Given the description of an element on the screen output the (x, y) to click on. 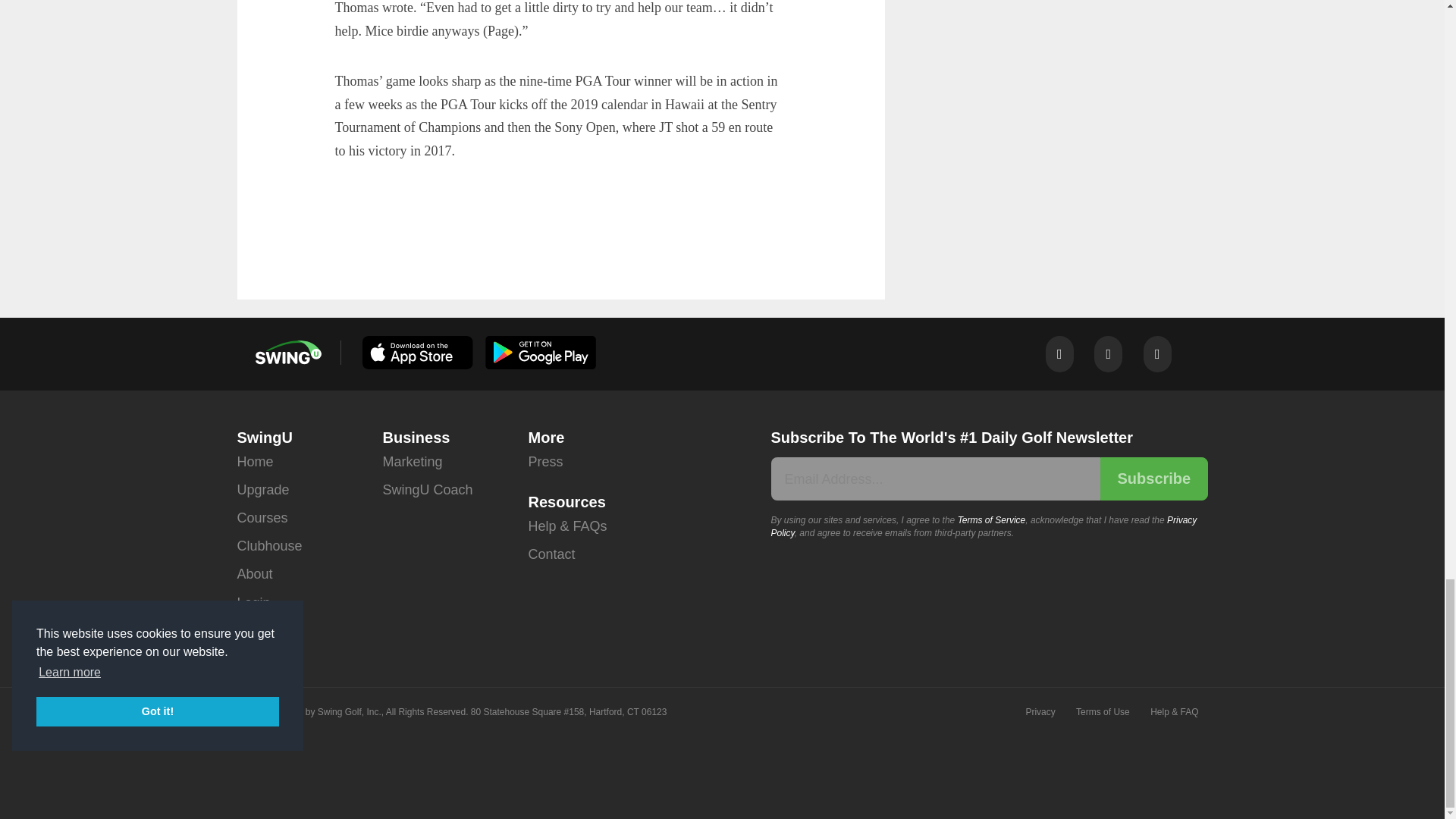
SwingU Coach (426, 489)
Login (252, 602)
Marketing (411, 461)
Clubhouse (268, 546)
Home (254, 461)
Contact (551, 554)
Terms of Use (1102, 712)
Upgrade (261, 489)
Press (544, 461)
Privacy (1039, 712)
